Given the description of an element on the screen output the (x, y) to click on. 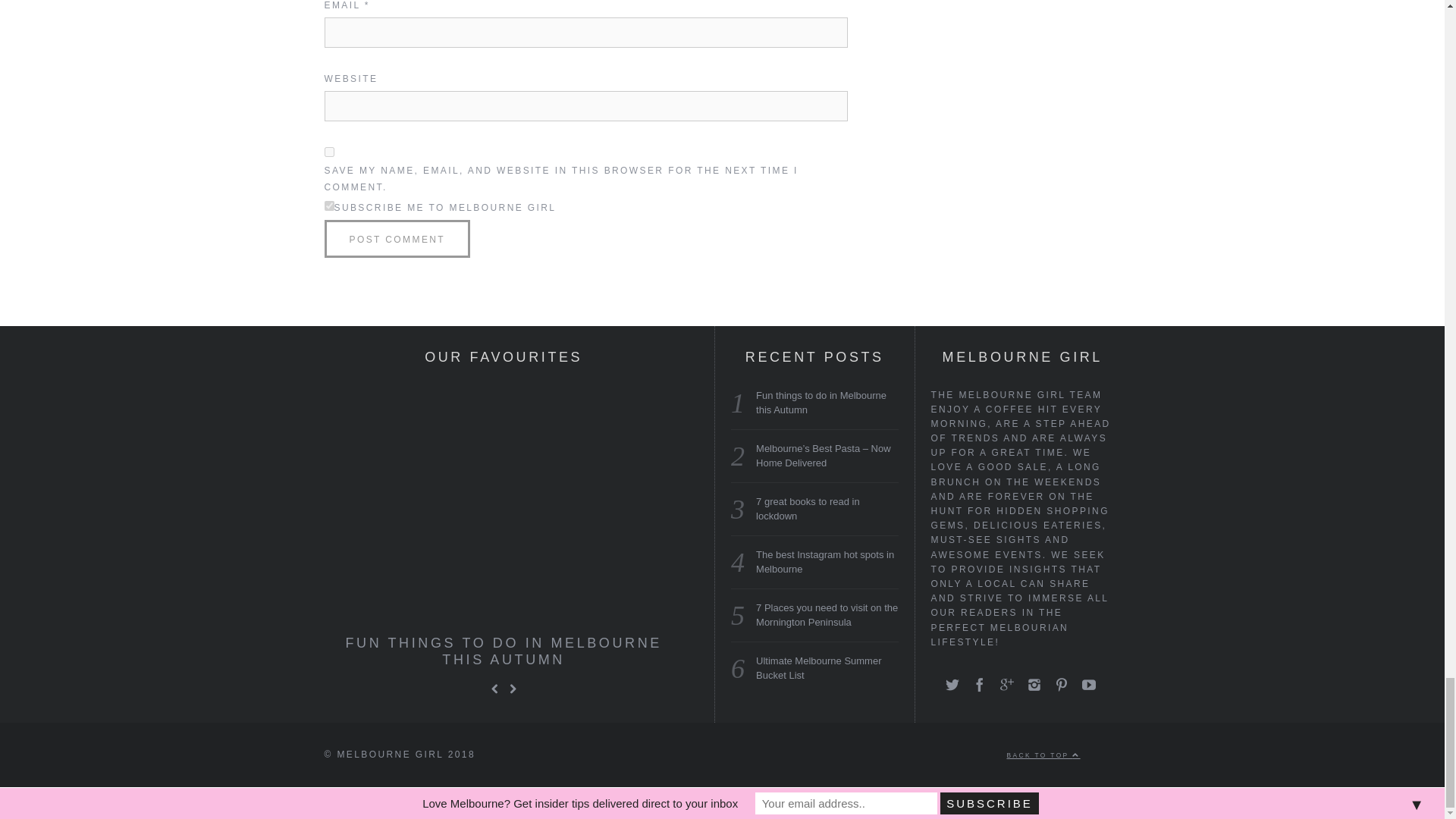
Post Comment (397, 238)
1 (329, 205)
yes (329, 152)
